Given the description of an element on the screen output the (x, y) to click on. 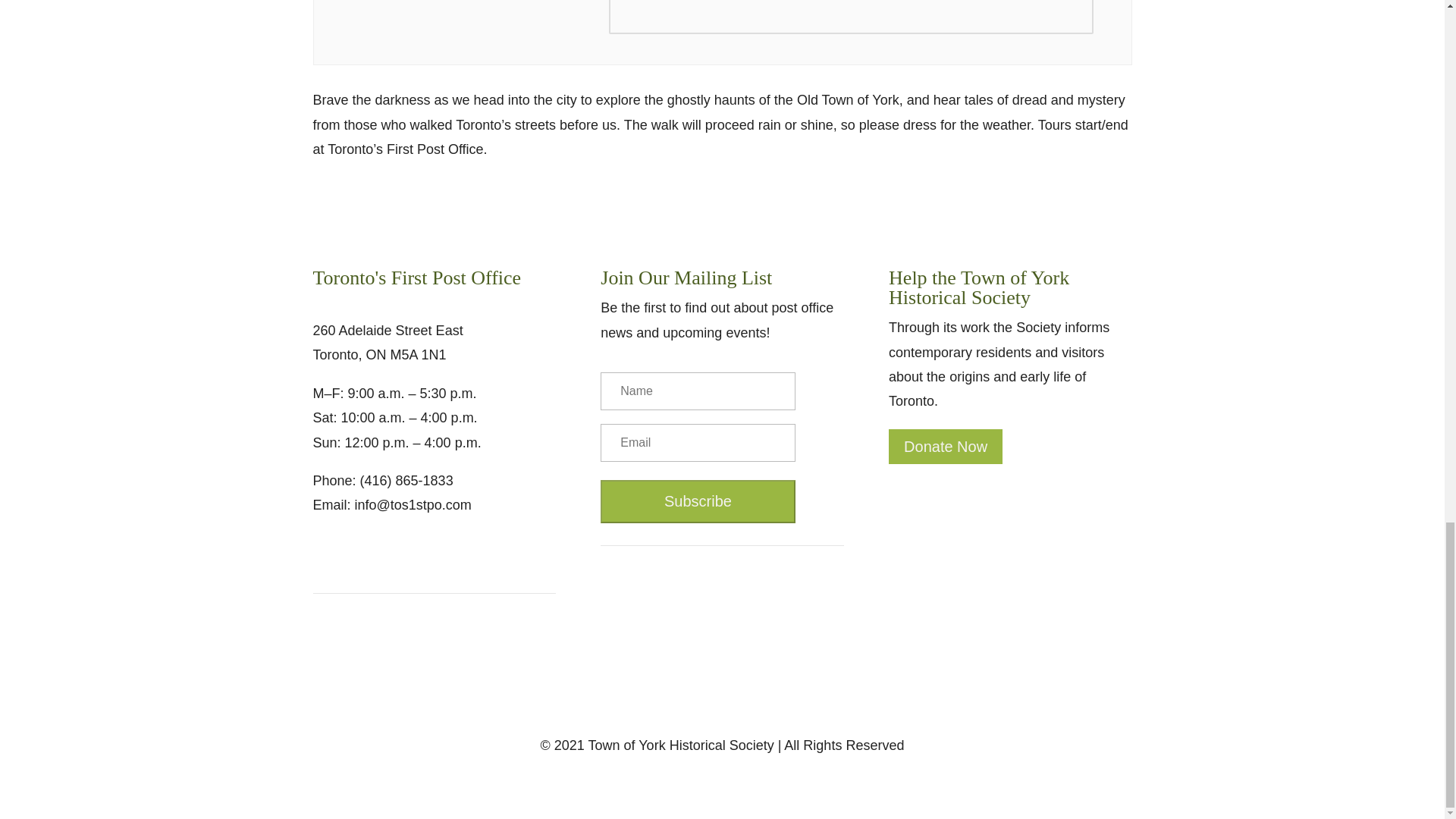
Donate Now (945, 446)
Subscribe (696, 501)
Follow on Facebook (324, 551)
Follow on Twitter (354, 551)
Follow on Instagram (384, 551)
Subscribe (696, 501)
